Given the description of an element on the screen output the (x, y) to click on. 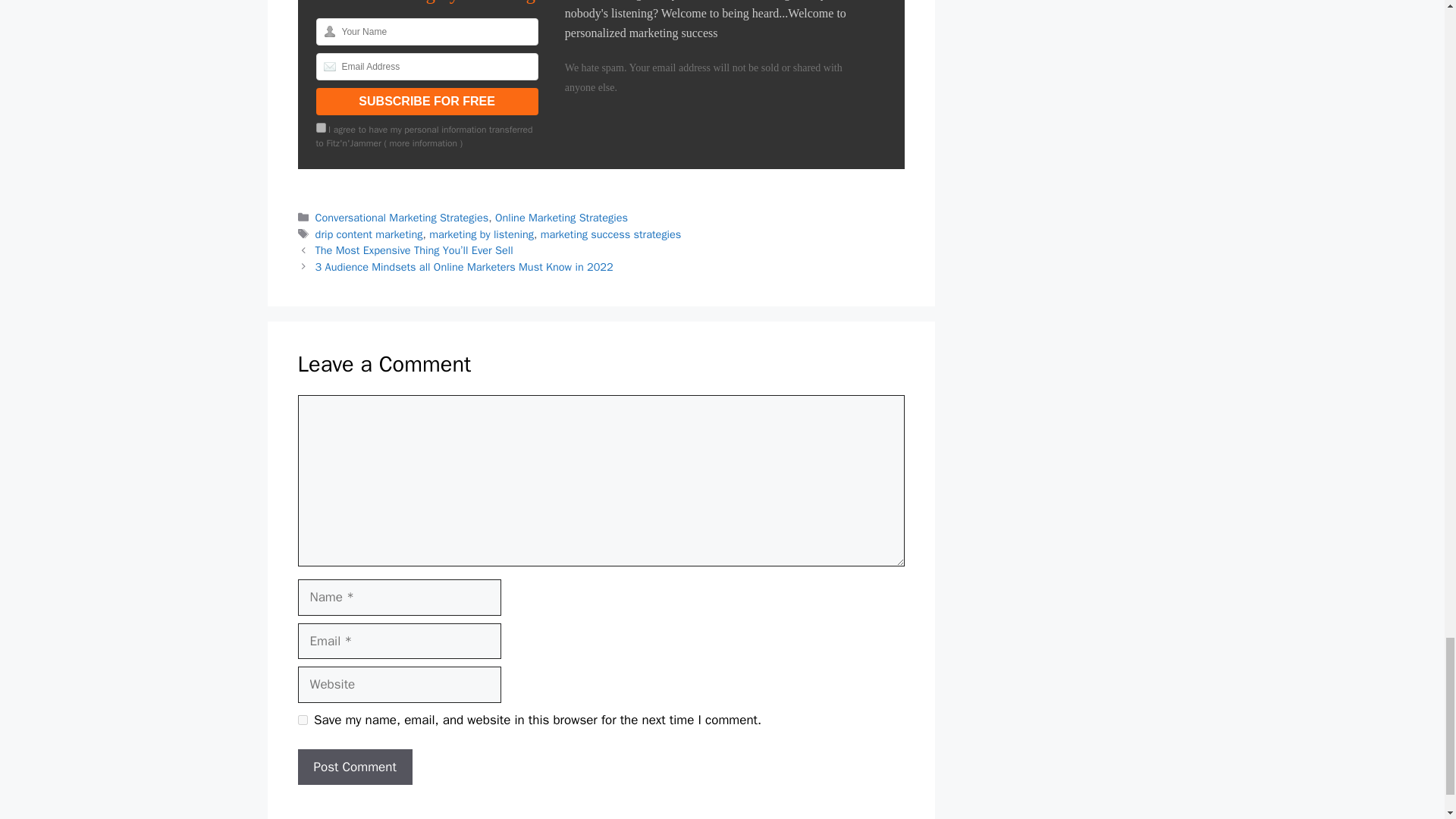
Online Marketing Strategies (561, 217)
marketing by listening (481, 233)
SUBSCRIBE FOR FREE (426, 101)
drip content marketing (369, 233)
3 Audience Mindsets all Online Marketers Must Know in 2022 (463, 266)
Post Comment (354, 767)
on (319, 127)
more information (423, 143)
SUBSCRIBE FOR FREE (426, 101)
yes (302, 719)
marketing success strategies (610, 233)
Post Comment (354, 767)
Conversational Marketing Strategies (402, 217)
